Given the description of an element on the screen output the (x, y) to click on. 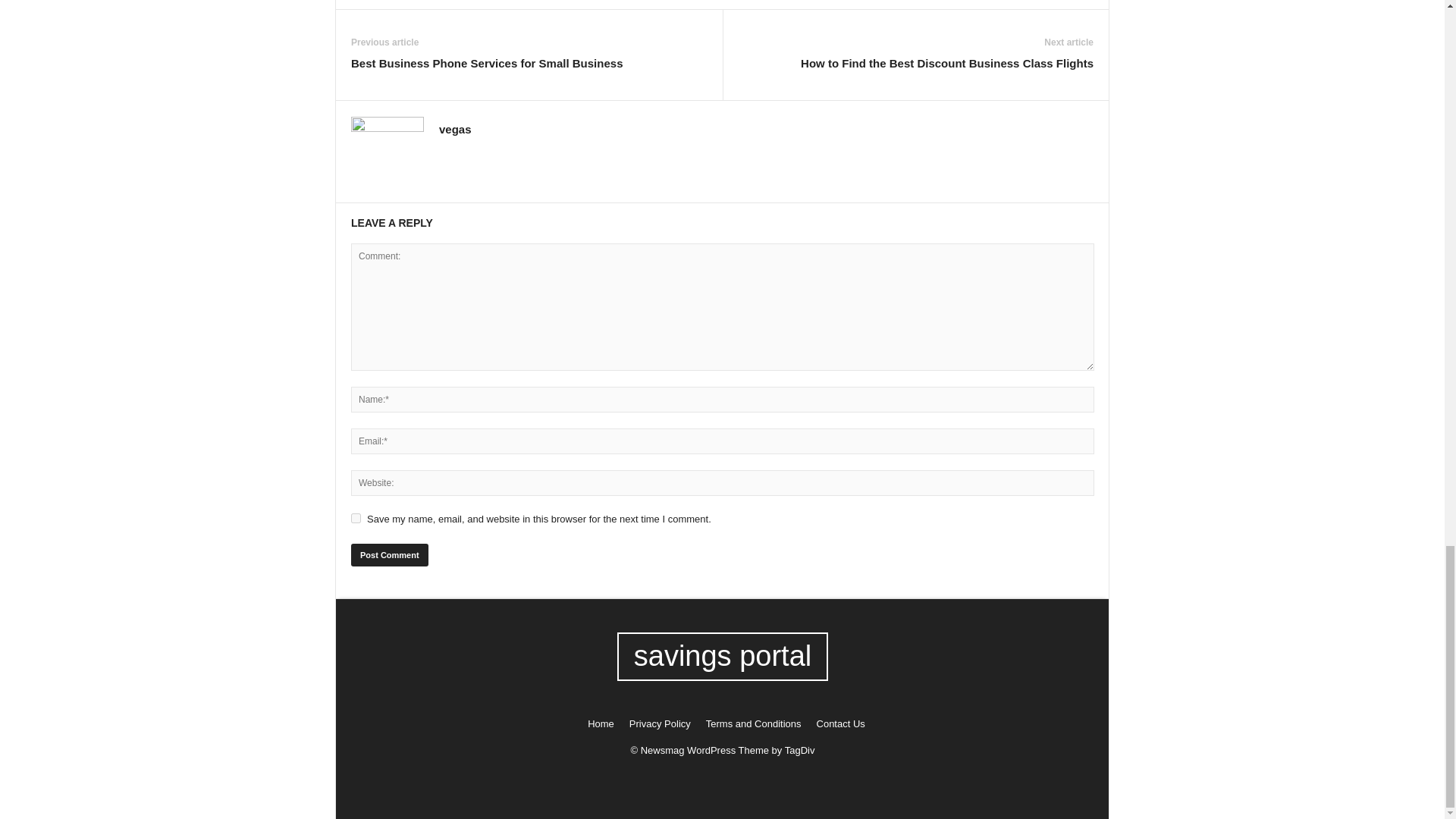
Best Business Phone Services for Small Business (486, 63)
Home (600, 723)
Post Comment (389, 554)
yes (355, 518)
Post Comment (389, 554)
vegas (455, 128)
Contact Us (836, 723)
Privacy Policy (659, 723)
Terms and Conditions (753, 723)
How to Find the Best Discount Business Class Flights (946, 63)
savings portal (722, 656)
